Given the description of an element on the screen output the (x, y) to click on. 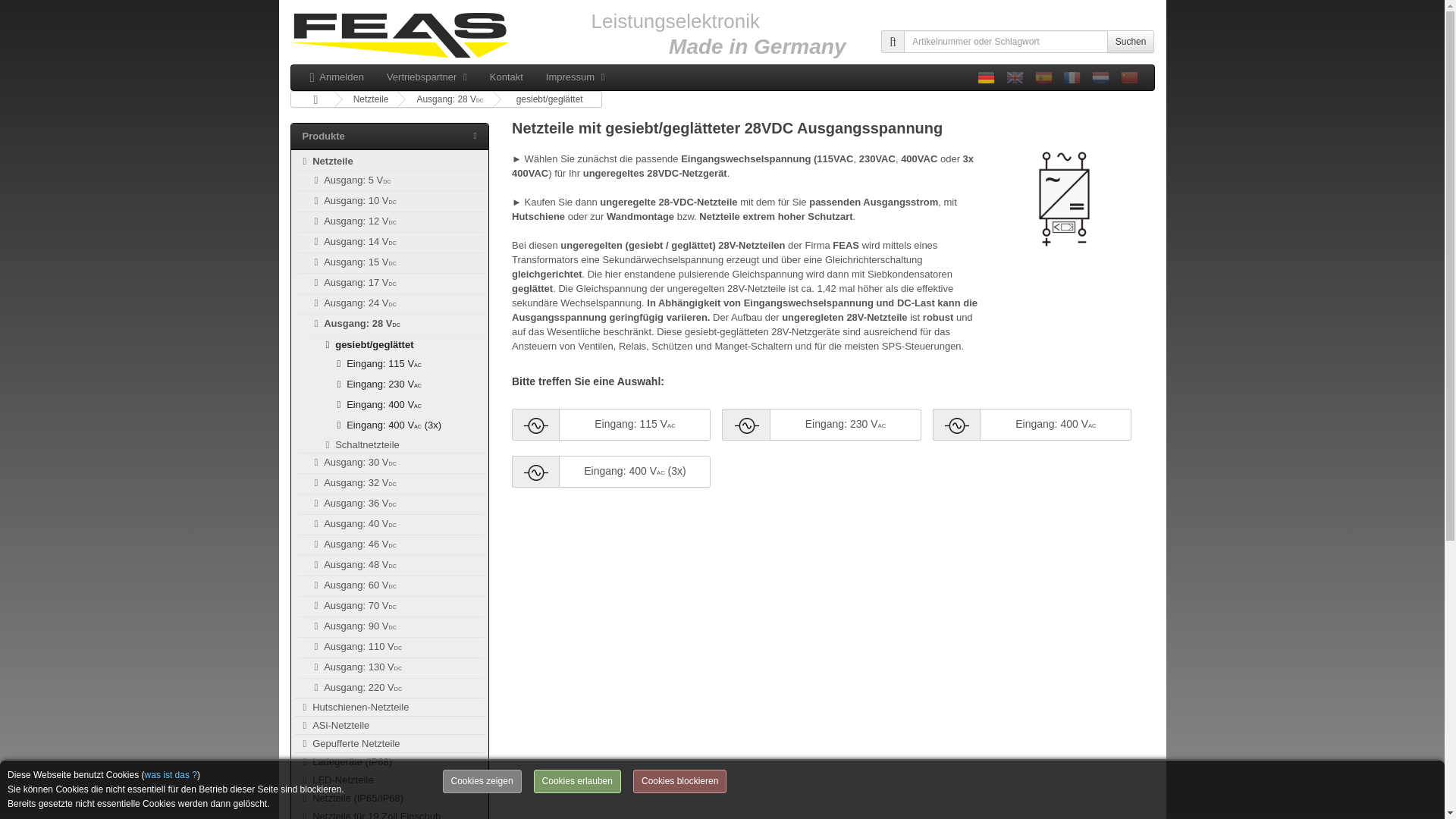
  Anmelden (336, 77)
Netzteile (325, 161)
Cookies zeigen (481, 781)
English (1015, 76)
Impressum (574, 77)
Spanisch (1043, 76)
Cookies erlauben (577, 781)
Kontakt (506, 77)
Vertriebspartner (427, 77)
Artikelnummer oder Schlagwort (1005, 41)
